Given the description of an element on the screen output the (x, y) to click on. 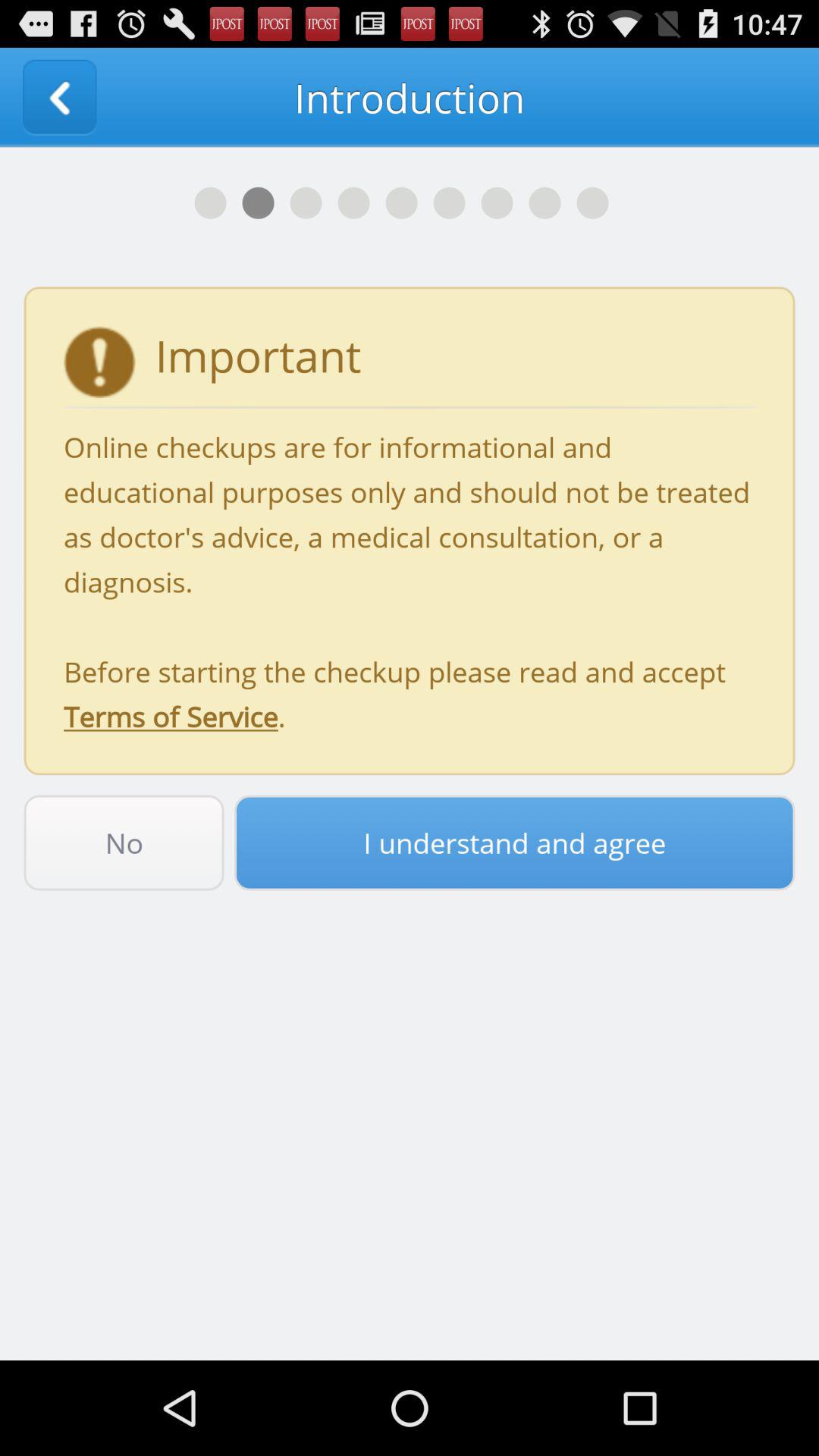
click the no on the left (123, 842)
